Given the description of an element on the screen output the (x, y) to click on. 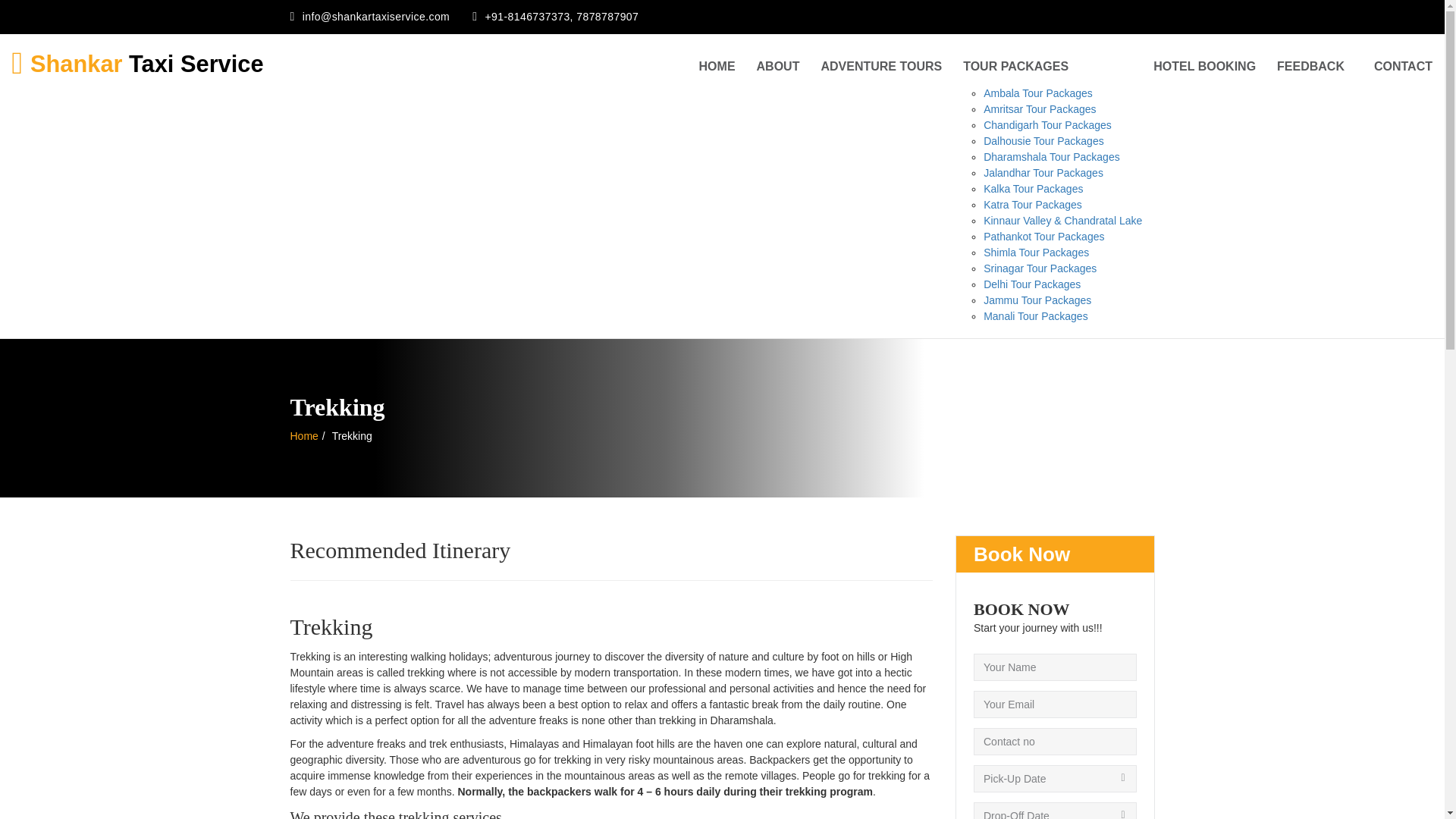
HOTEL BOOKING (1204, 66)
Dharamshala Tour Packages (1051, 156)
Kalka Tour Packages (1033, 188)
ABOUT (778, 66)
7878787907 (607, 16)
Shankar Taxi Service (137, 53)
HOME (716, 66)
CONTACT (1403, 66)
Ambala Tour Packages (1038, 92)
Jammu Tour Packages (1037, 300)
Manali Tour Packages (1035, 316)
TOUR PACKAGES (1047, 66)
Chandigarh Tour Packages (1048, 124)
Shimla Tour Packages (1036, 252)
Jalandhar Tour Packages (1043, 173)
